Given the description of an element on the screen output the (x, y) to click on. 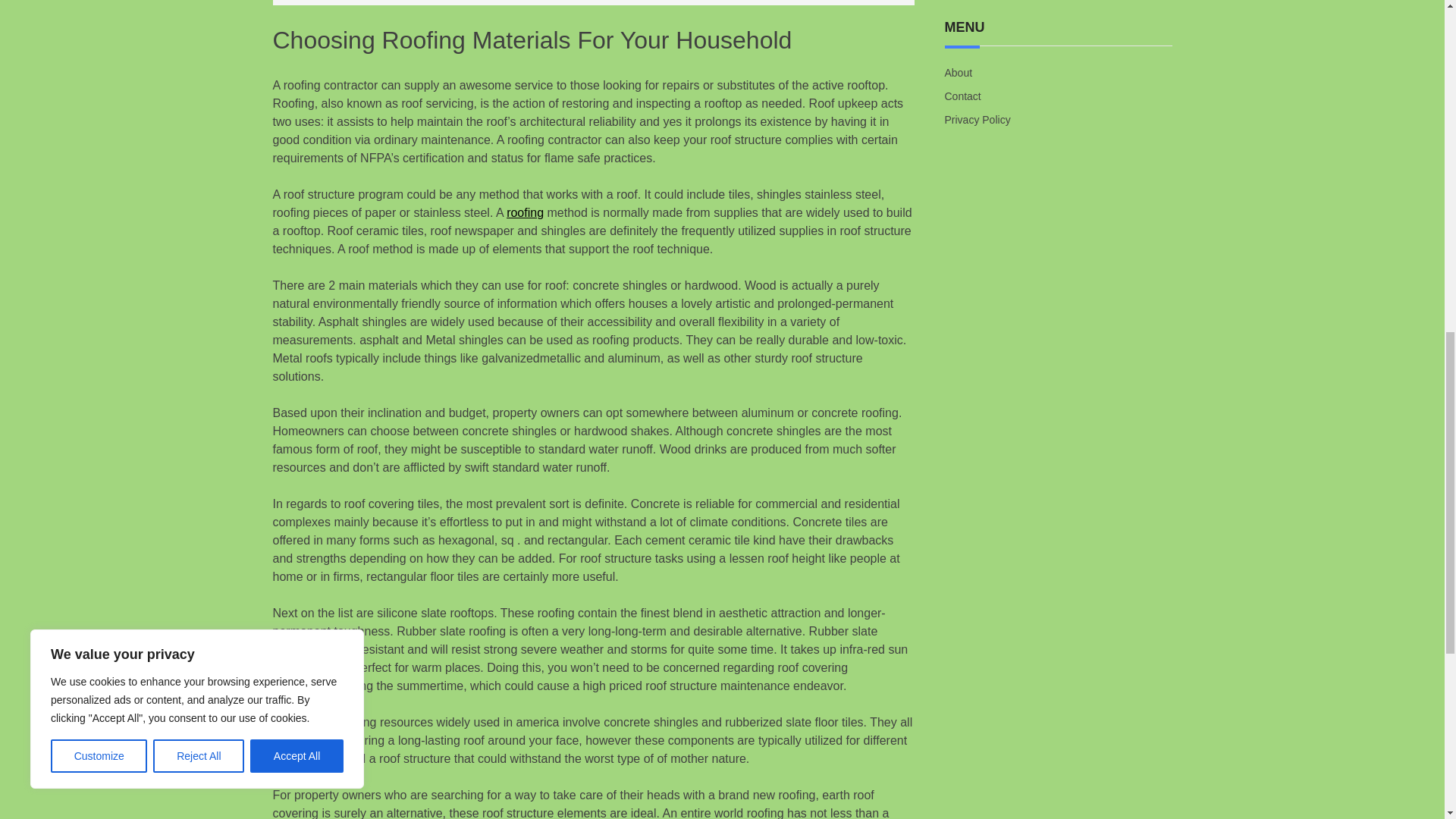
overheating (304, 685)
roofing (524, 212)
